Given the description of an element on the screen output the (x, y) to click on. 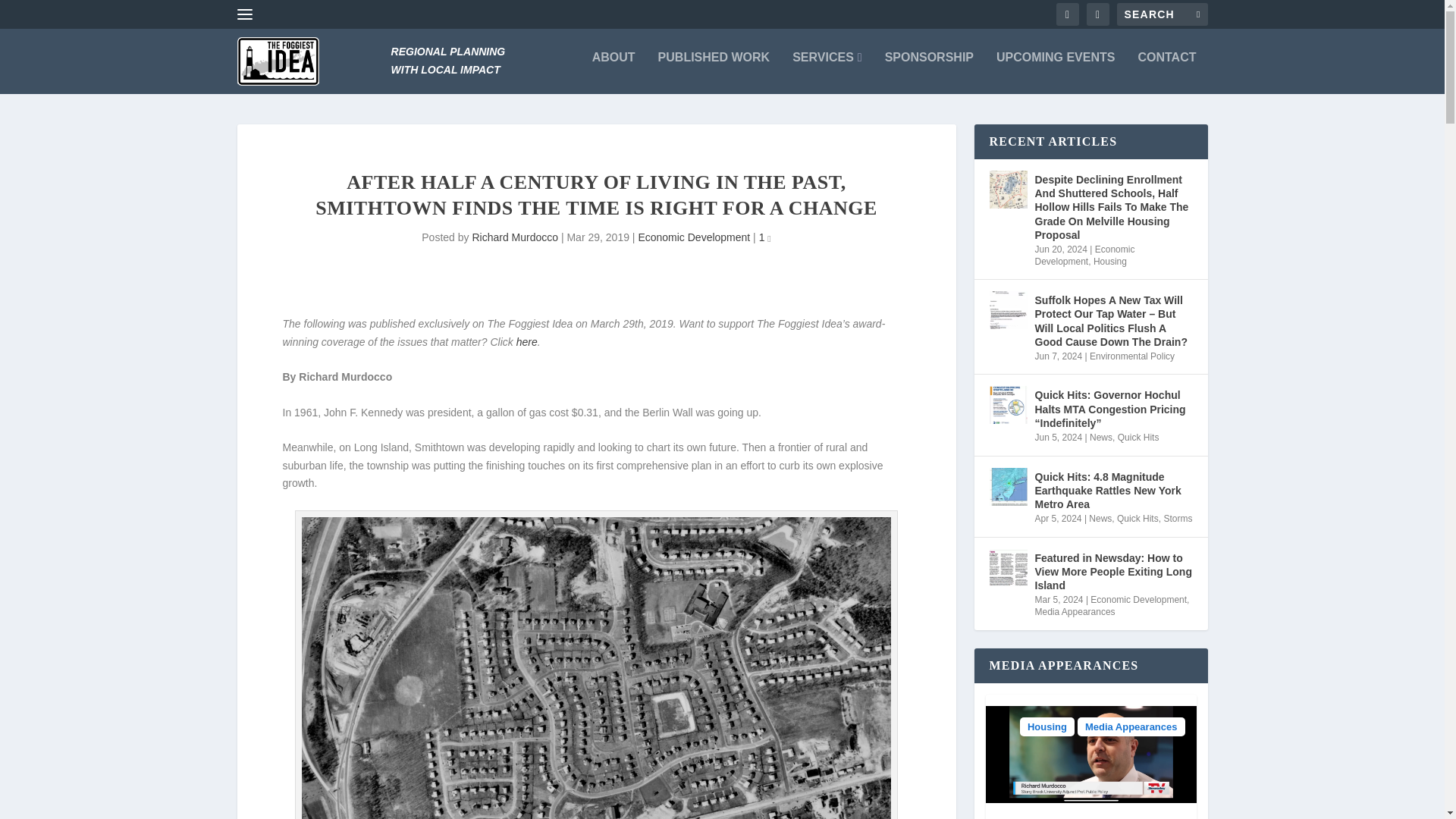
comment count (768, 239)
Search for: (1161, 14)
CONTACT (1166, 61)
Posts by Richard Murdocco (514, 236)
PUBLISHED WORK (714, 61)
Richard Murdocco (514, 236)
UPCOMING EVENTS (1055, 61)
SERVICES (826, 61)
SPONSORSHIP (929, 61)
ABOUT (613, 61)
